Given the description of an element on the screen output the (x, y) to click on. 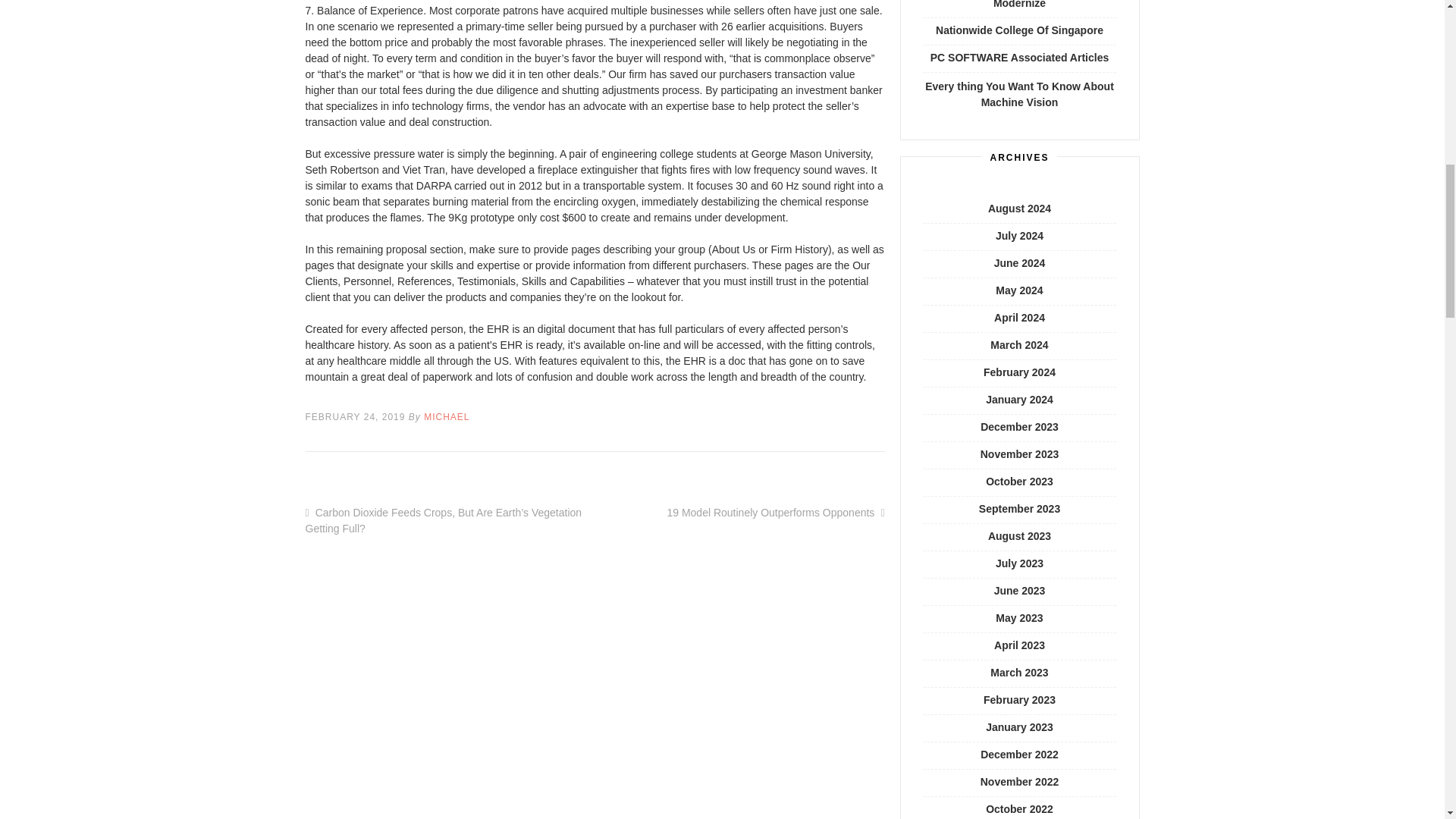
Every thing You Want To Know About Machine Vision (1018, 94)
19 Model Routinely Outperforms Opponents (770, 512)
May 2023 (1018, 617)
MICHAEL (445, 416)
June 2023 (1019, 590)
March 2023 (1019, 672)
December 2023 (1018, 426)
May 2024 (1018, 290)
April 2023 (1019, 645)
March 2024 (1019, 345)
